Given the description of an element on the screen output the (x, y) to click on. 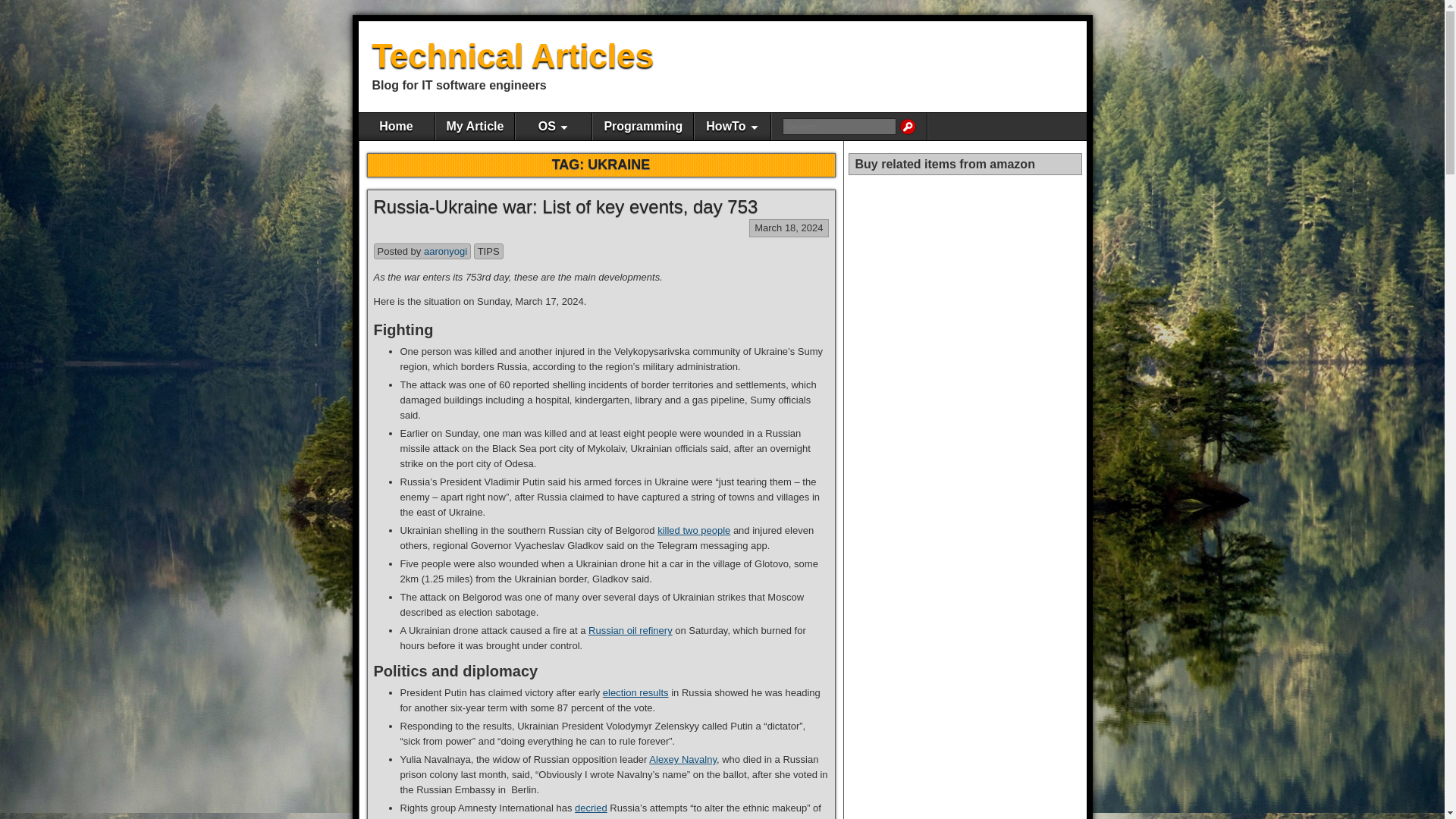
March 18, 2024 (788, 227)
TIPS (488, 251)
My Article (474, 126)
killed two people (694, 530)
Technical Articles (512, 55)
Programming (642, 126)
HowTo (732, 126)
aaronyogi (445, 251)
Search (907, 126)
election results (635, 692)
Alexey Navalny (682, 758)
Search (907, 126)
Search (907, 126)
Russia-Ukraine war: List of key events, day 753 (564, 206)
decried (591, 808)
